Given the description of an element on the screen output the (x, y) to click on. 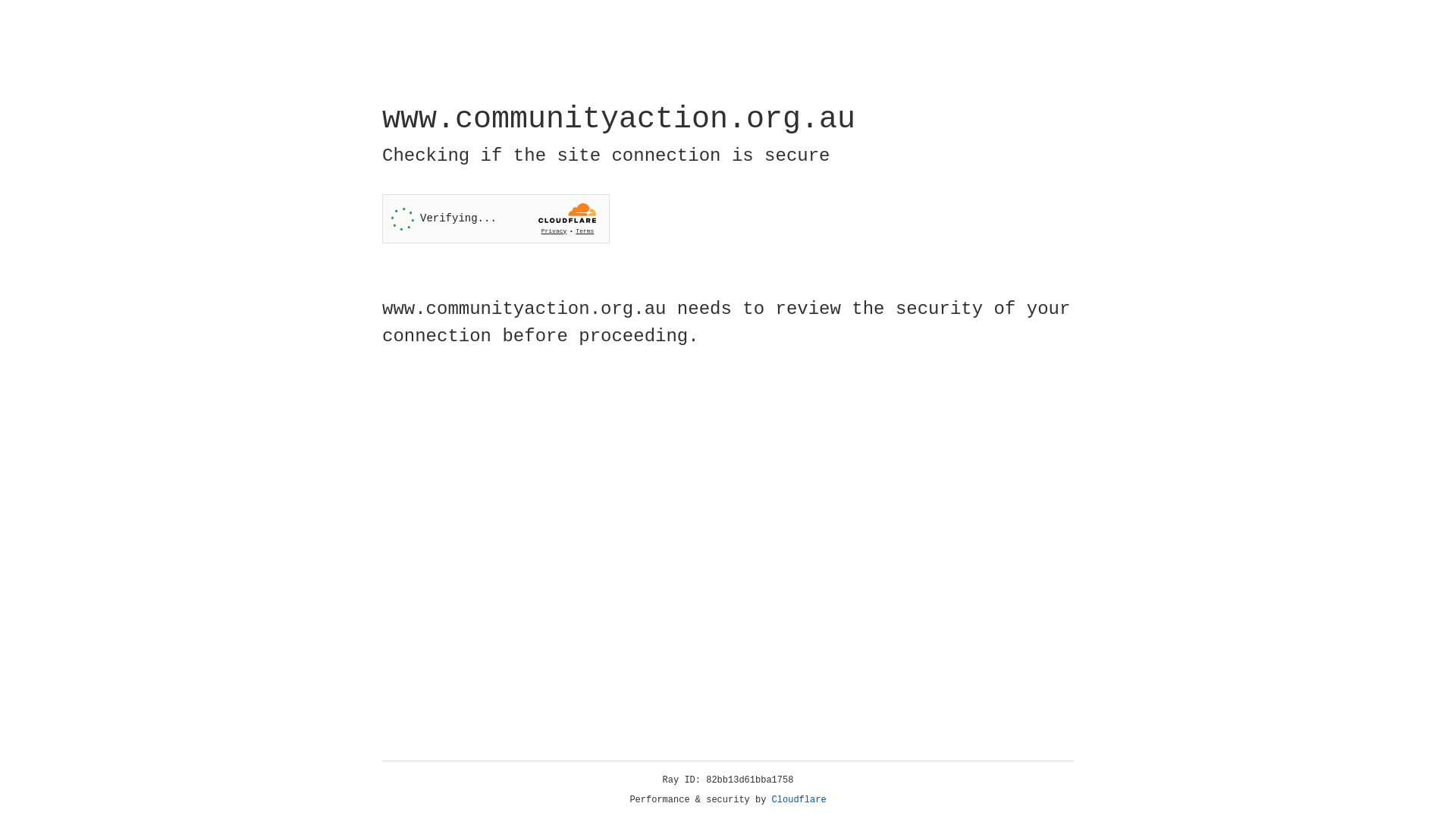
Widget containing a Cloudflare security challenge Element type: hover (495, 218)
Cloudflare Element type: text (798, 799)
